Given the description of an element on the screen output the (x, y) to click on. 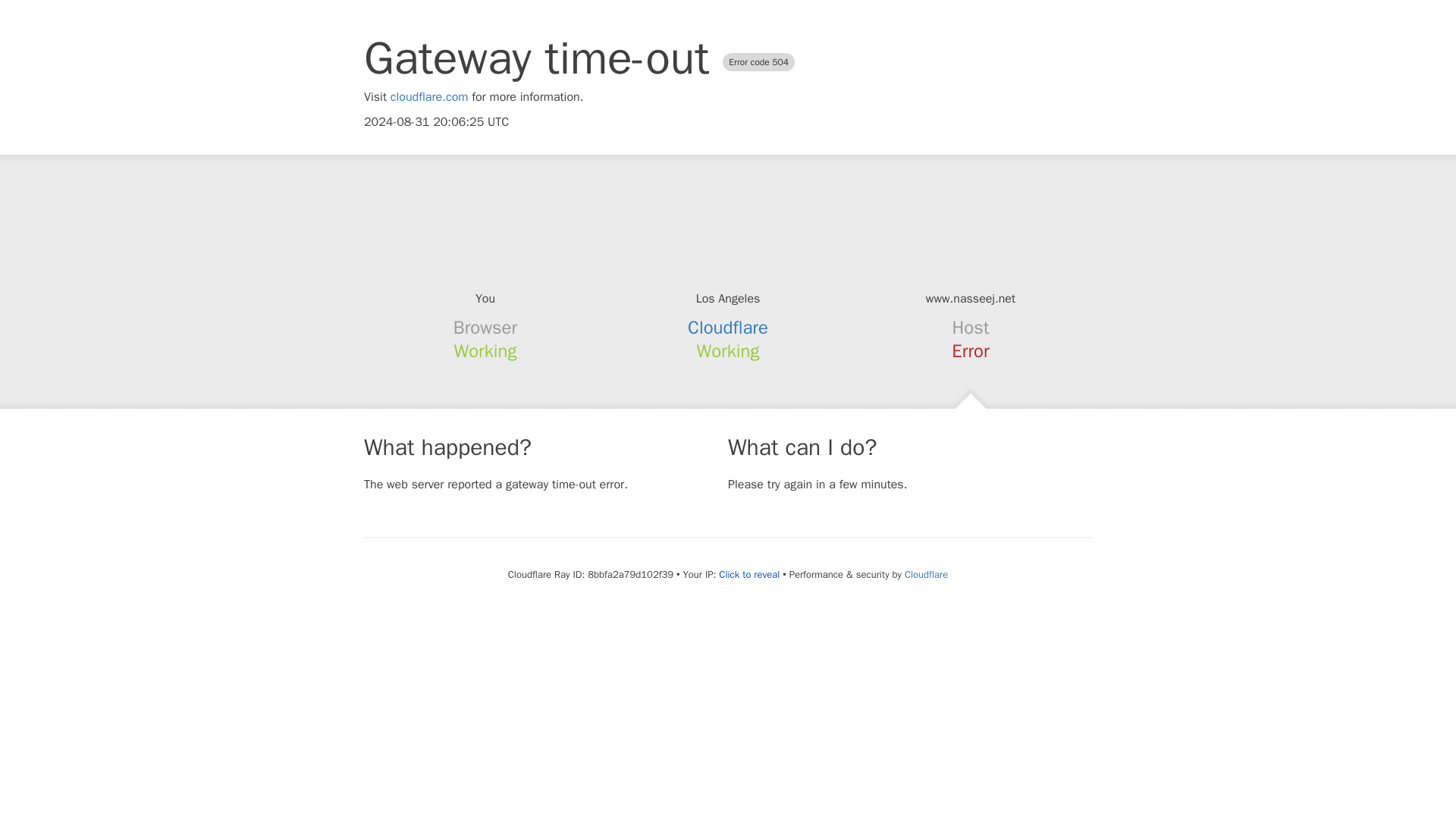
cloudflare.com (429, 96)
Cloudflare (727, 327)
Cloudflare (925, 574)
Click to reveal (748, 574)
